Given the description of an element on the screen output the (x, y) to click on. 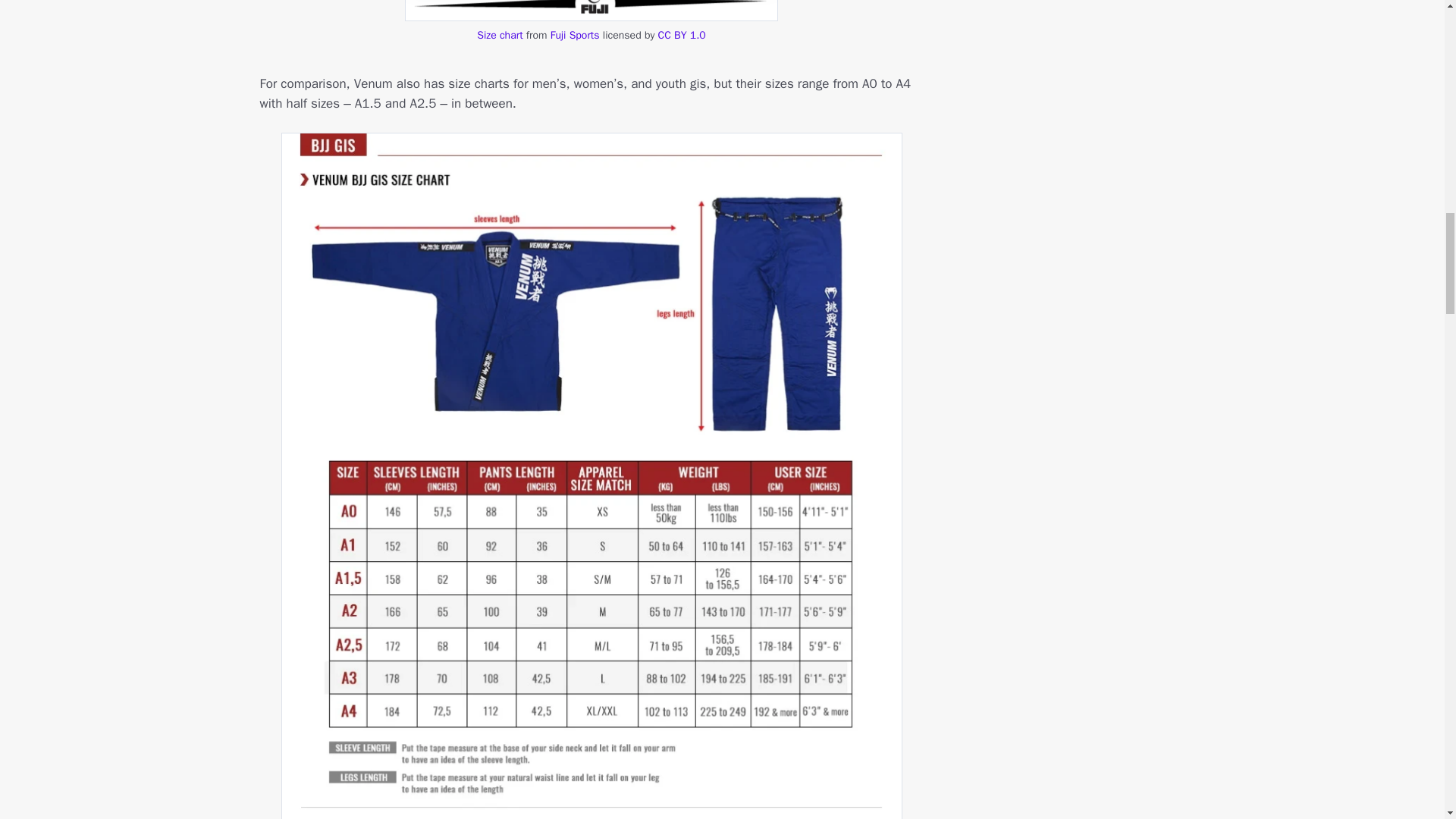
CC BY 1.0 (682, 34)
Fuji Sports (574, 34)
Size chart (499, 34)
